Given the description of an element on the screen output the (x, y) to click on. 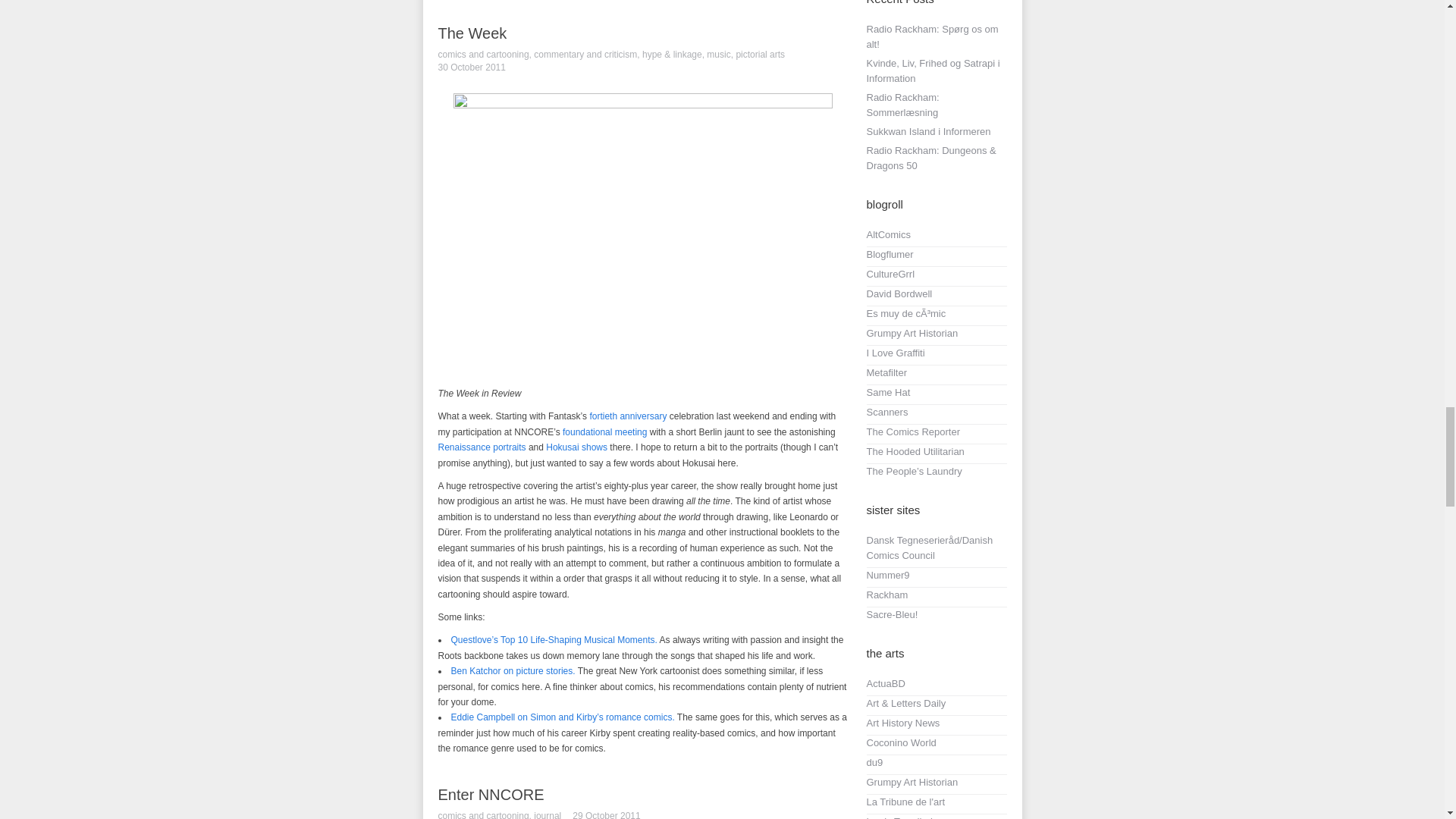
The Week (472, 33)
